Given the description of an element on the screen output the (x, y) to click on. 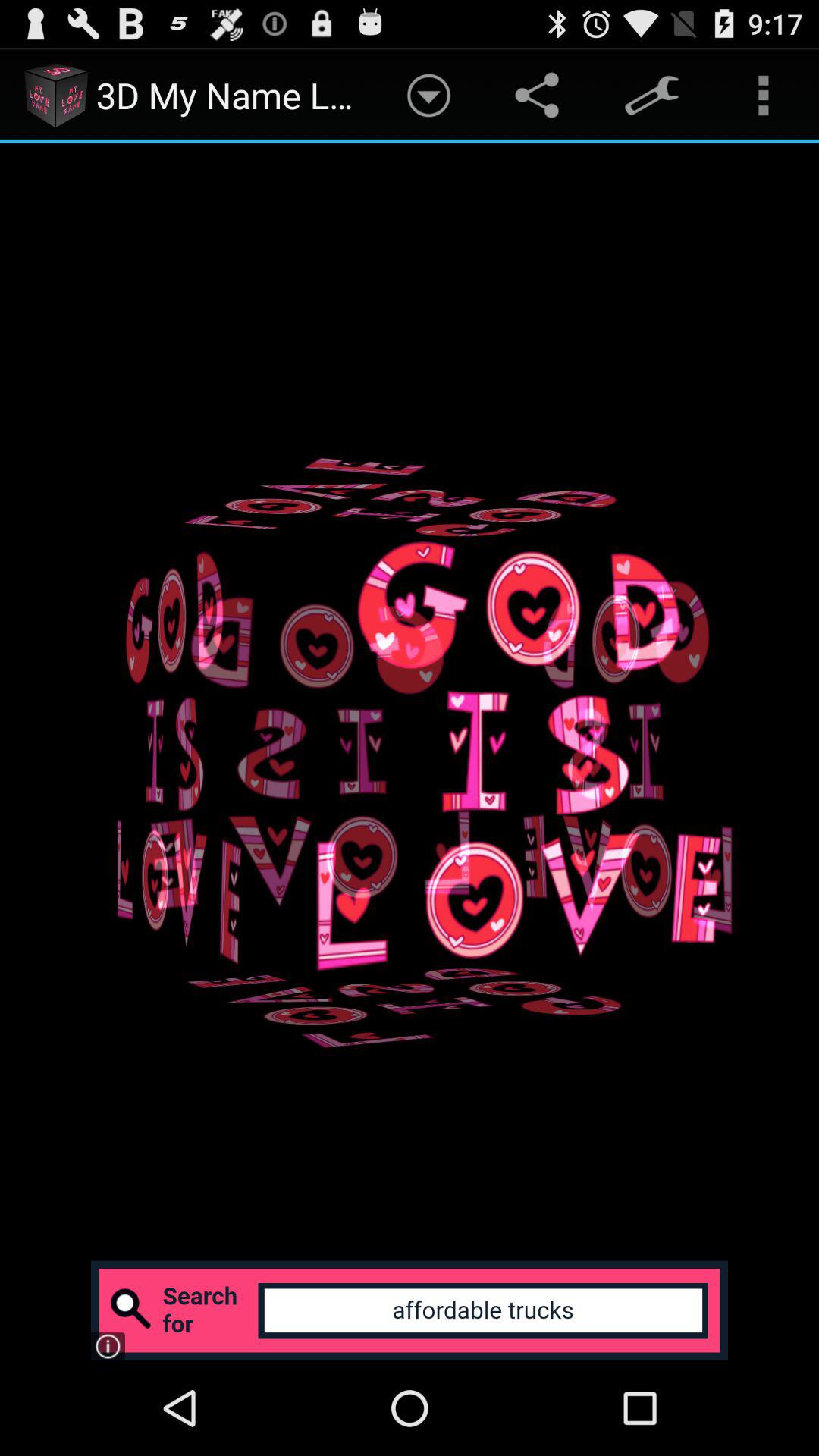
turn on the icon to the right of 3d my name app (428, 95)
